Given the description of an element on the screen output the (x, y) to click on. 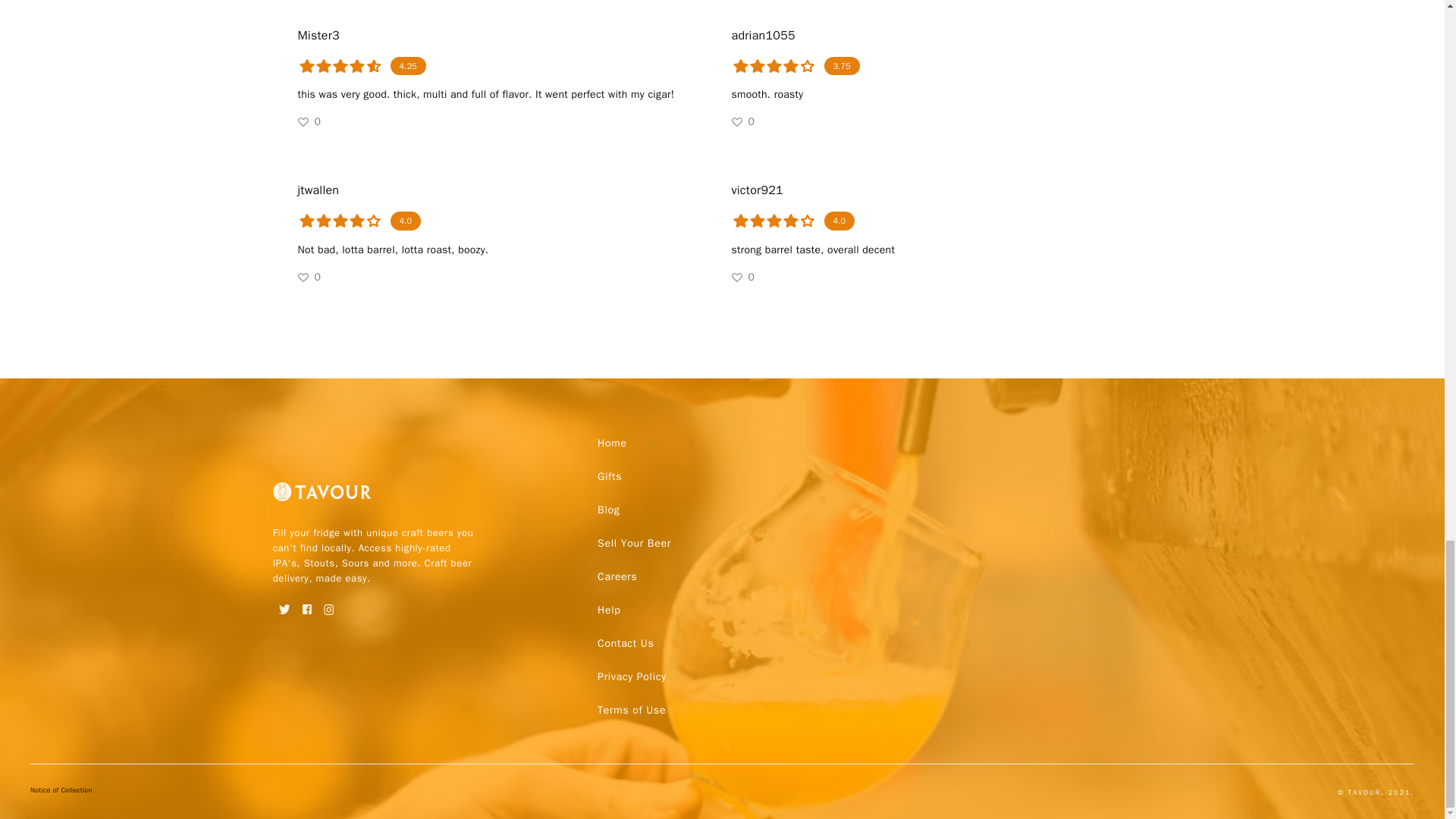
Sell Your Beer (633, 543)
Contact Us (625, 643)
Help (608, 610)
Privacy Policy (631, 676)
Twitter (285, 604)
Careers (617, 576)
blog (608, 510)
FAQ (631, 710)
Home (612, 443)
FAQ (631, 676)
Blog (608, 510)
sell your beer (633, 543)
Careers (617, 576)
Notice of Collection (61, 792)
gifts (609, 476)
